Given the description of an element on the screen output the (x, y) to click on. 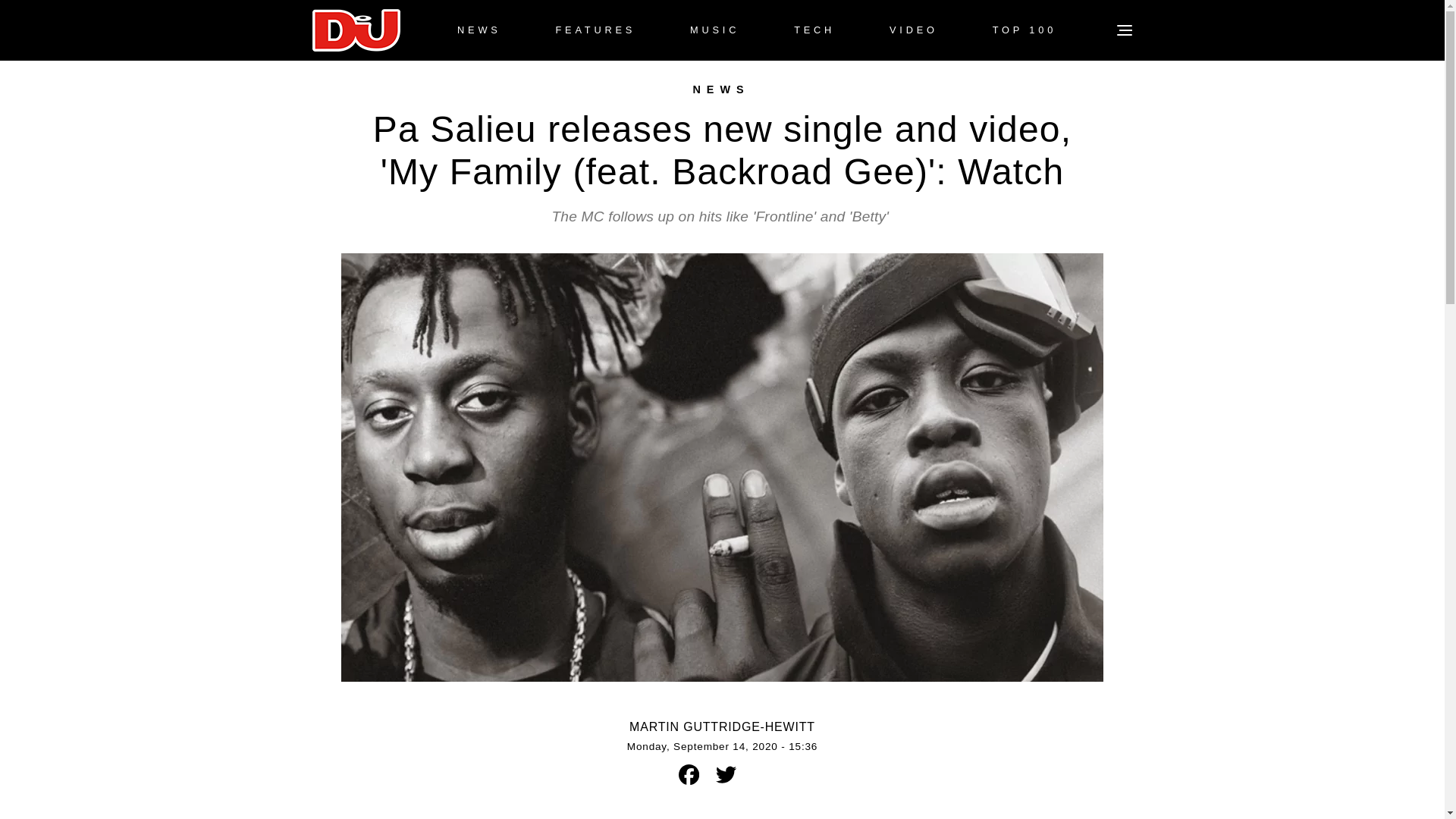
NEWS (478, 29)
MUSIC (714, 29)
DJ Mag (356, 30)
FEATURES (594, 29)
Share to Facebook (689, 774)
TECH (813, 29)
Twitter (726, 774)
Facebook (688, 774)
VIDEO (913, 29)
Share to Twitter (725, 774)
